Given the description of an element on the screen output the (x, y) to click on. 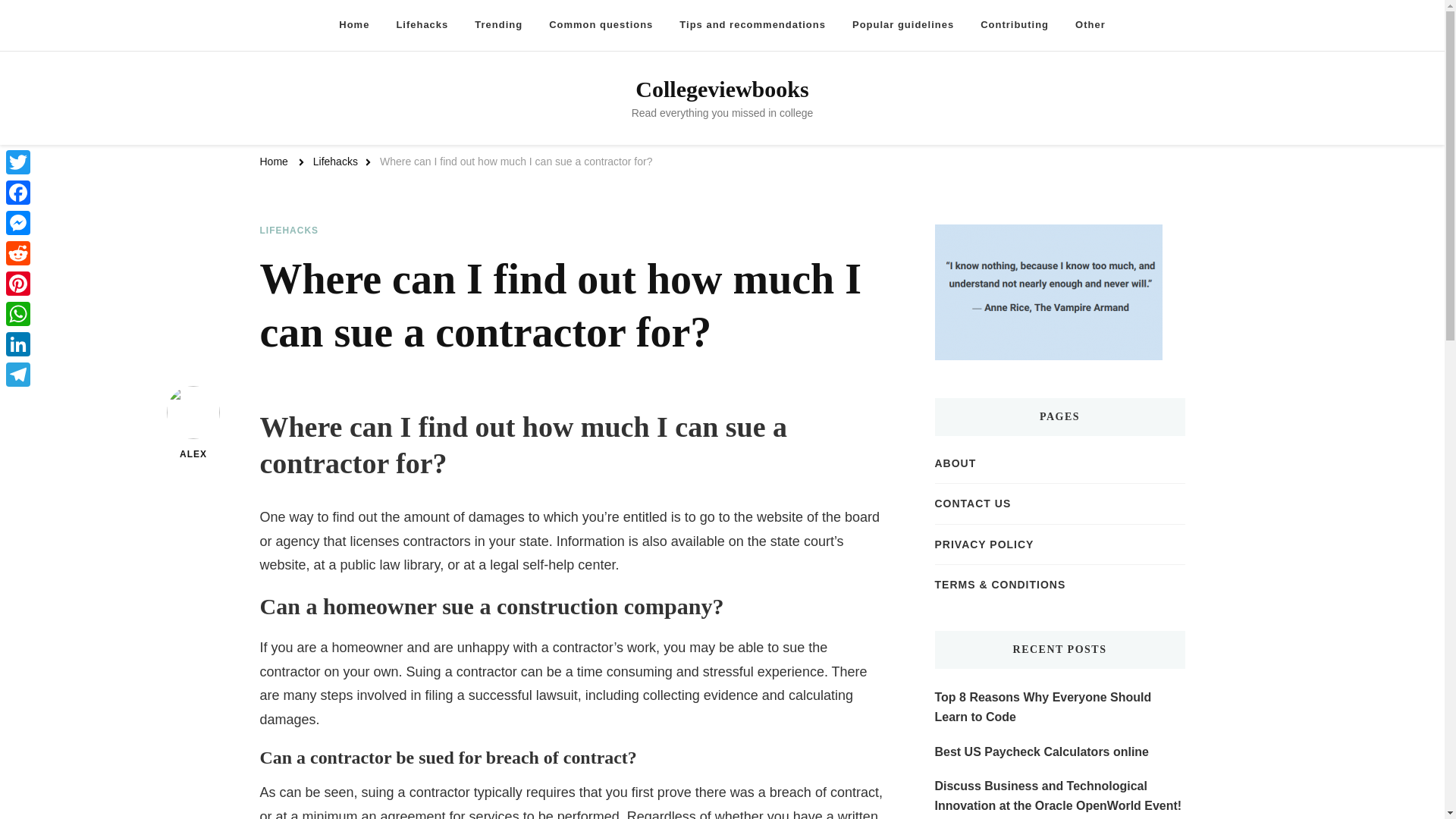
Contributing (1014, 25)
Home (272, 162)
Twitter (17, 162)
Telegram (17, 374)
Facebook (17, 192)
Other (1090, 25)
Top 8 Reasons Why Everyone Should Learn to Code (1059, 706)
Lifehacks (422, 25)
LIFEHACKS (288, 231)
Trending (498, 25)
Common questions (600, 25)
ABOUT (954, 463)
Popular guidelines (903, 25)
Messenger (17, 223)
